Given the description of an element on the screen output the (x, y) to click on. 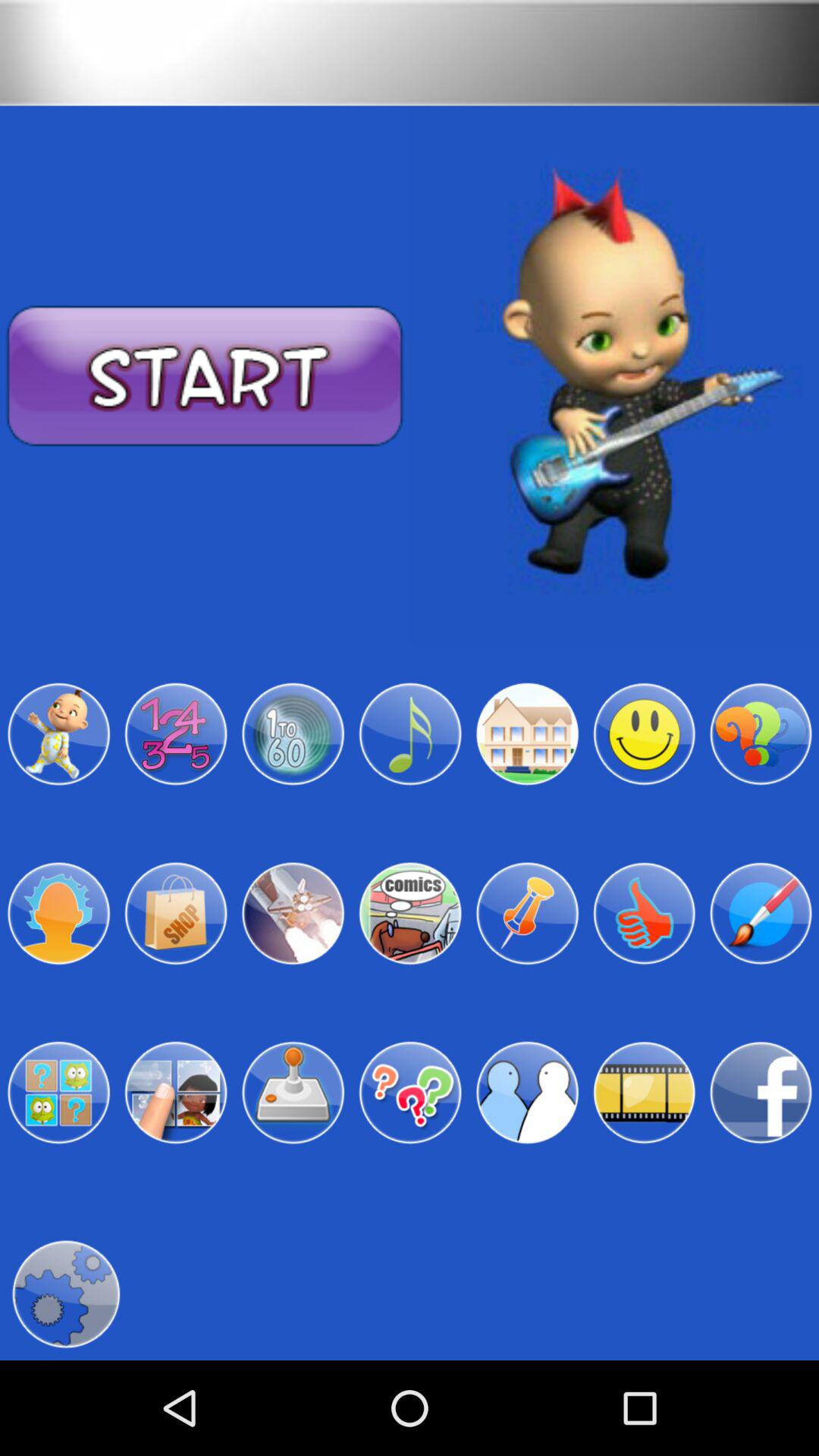
select board pin icon (526, 913)
